Given the description of an element on the screen output the (x, y) to click on. 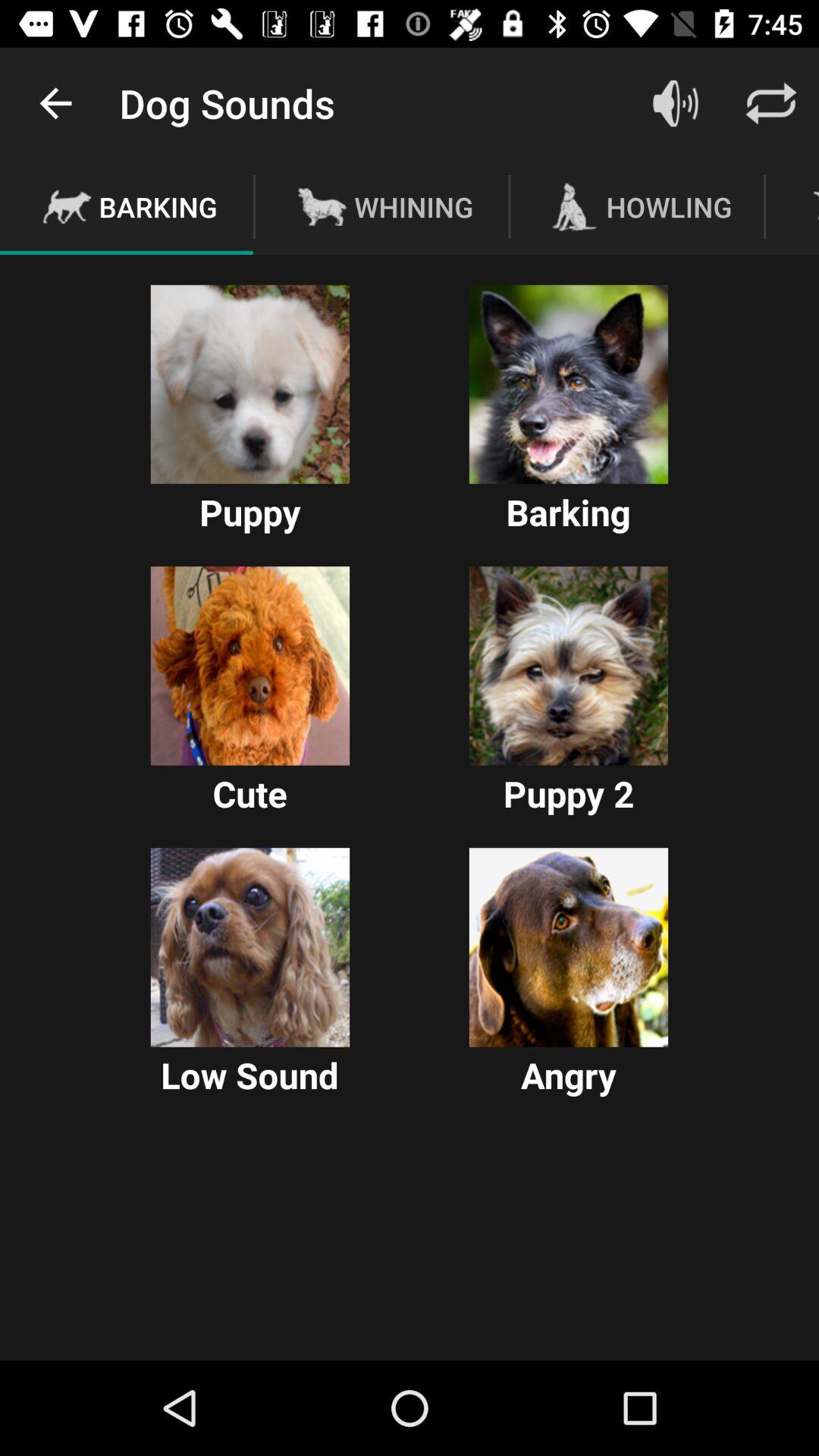
dog sound of puppy 2 (568, 665)
